Given the description of an element on the screen output the (x, y) to click on. 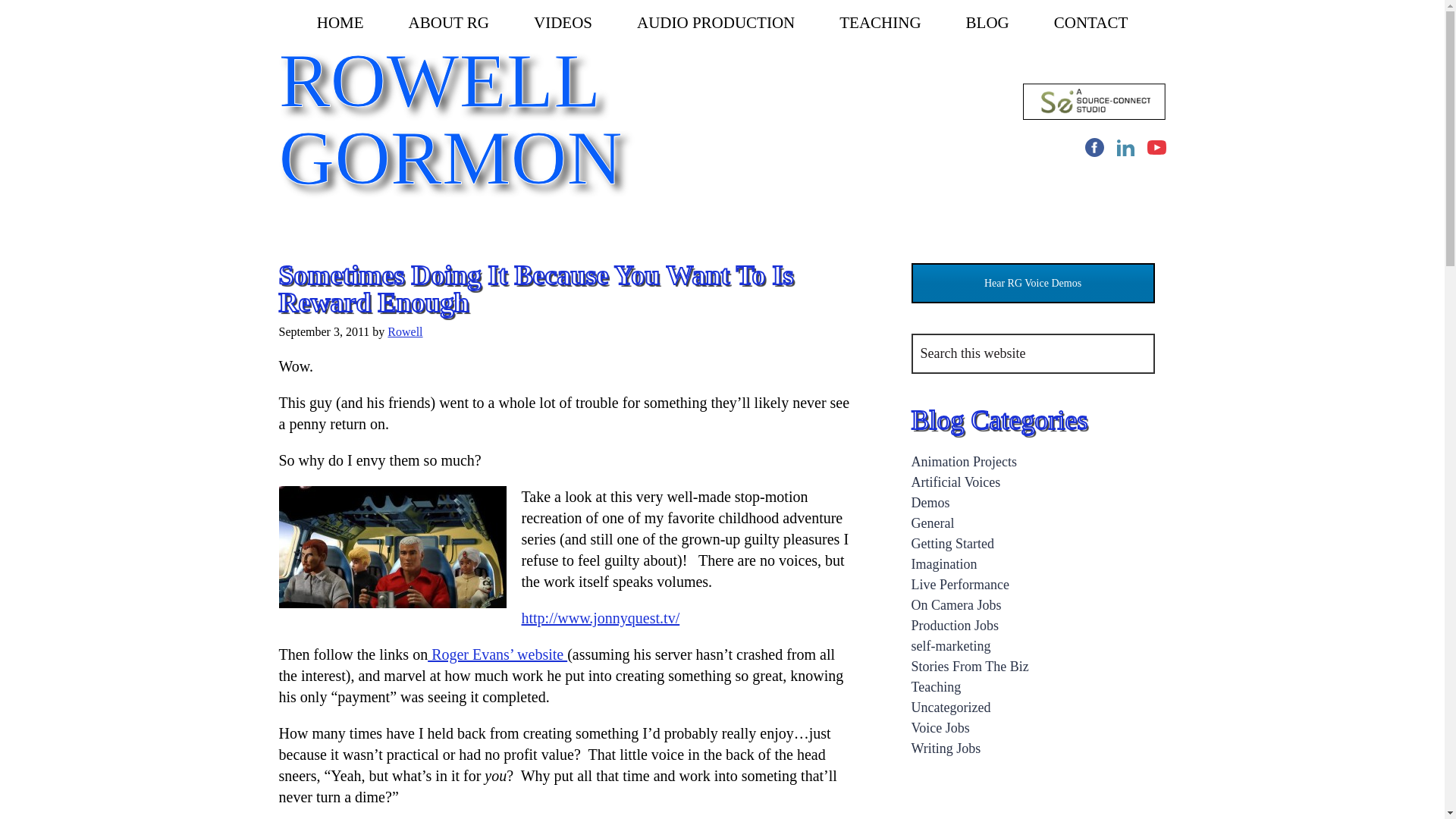
TEACHING (880, 23)
Imagination (943, 563)
Uncategorized (951, 707)
Artificial Voices (956, 482)
BLOG (987, 23)
self-marketing (951, 645)
Demos (930, 502)
CONTACT (1090, 23)
Voice Jobs (940, 727)
Rowell (404, 331)
